Given the description of an element on the screen output the (x, y) to click on. 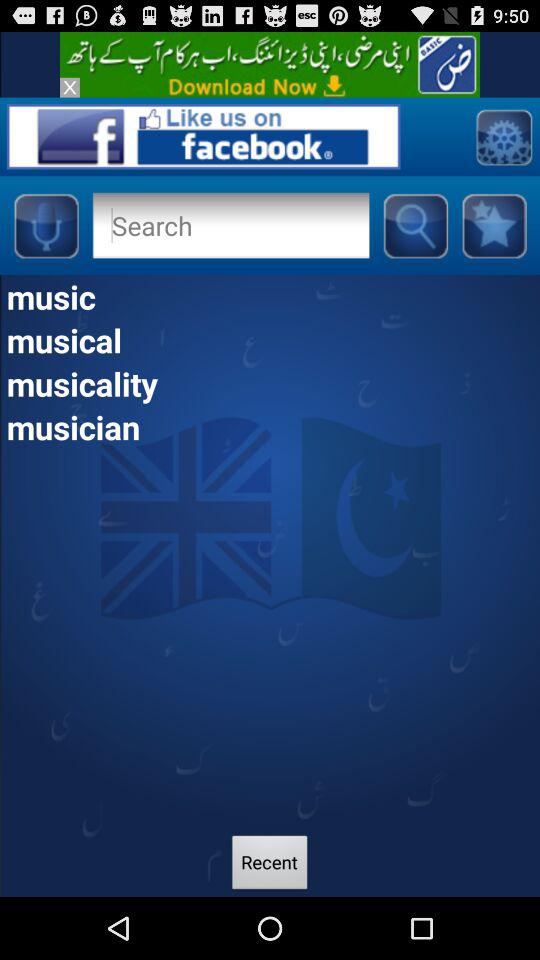
click item below the music app (270, 339)
